Given the description of an element on the screen output the (x, y) to click on. 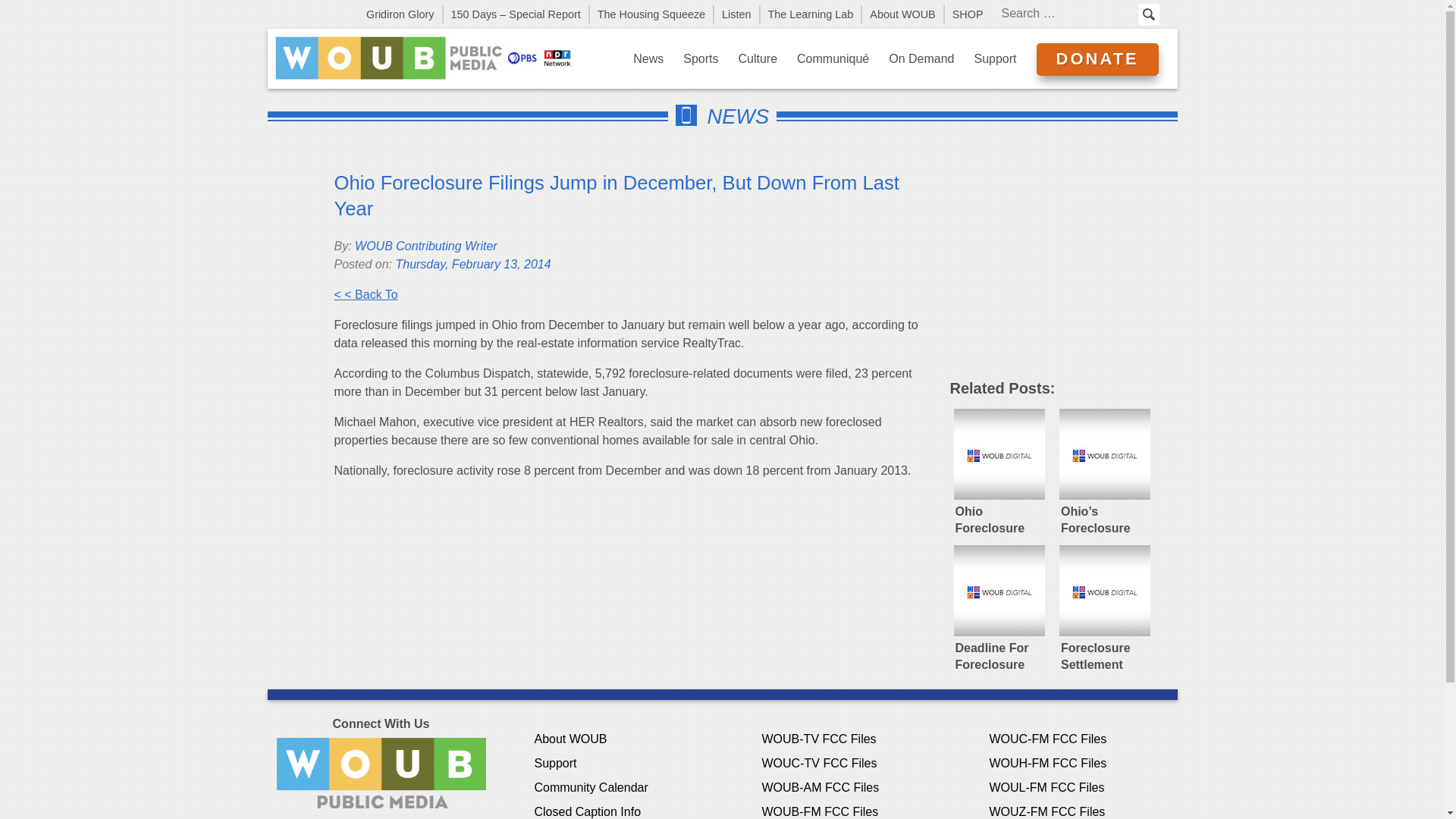
The Learning Lab (810, 13)
culture (757, 58)
On Demand (921, 58)
3rd party ad content (1062, 271)
SHOP (967, 13)
Contact WOUB (380, 772)
Sports (700, 58)
DONATE (1096, 59)
communique (833, 58)
Thursday, February 13, 2014 (472, 264)
The Housing Squeeze (651, 13)
Listen (737, 13)
donate (1096, 59)
Culture (757, 58)
Support (994, 58)
